Given the description of an element on the screen output the (x, y) to click on. 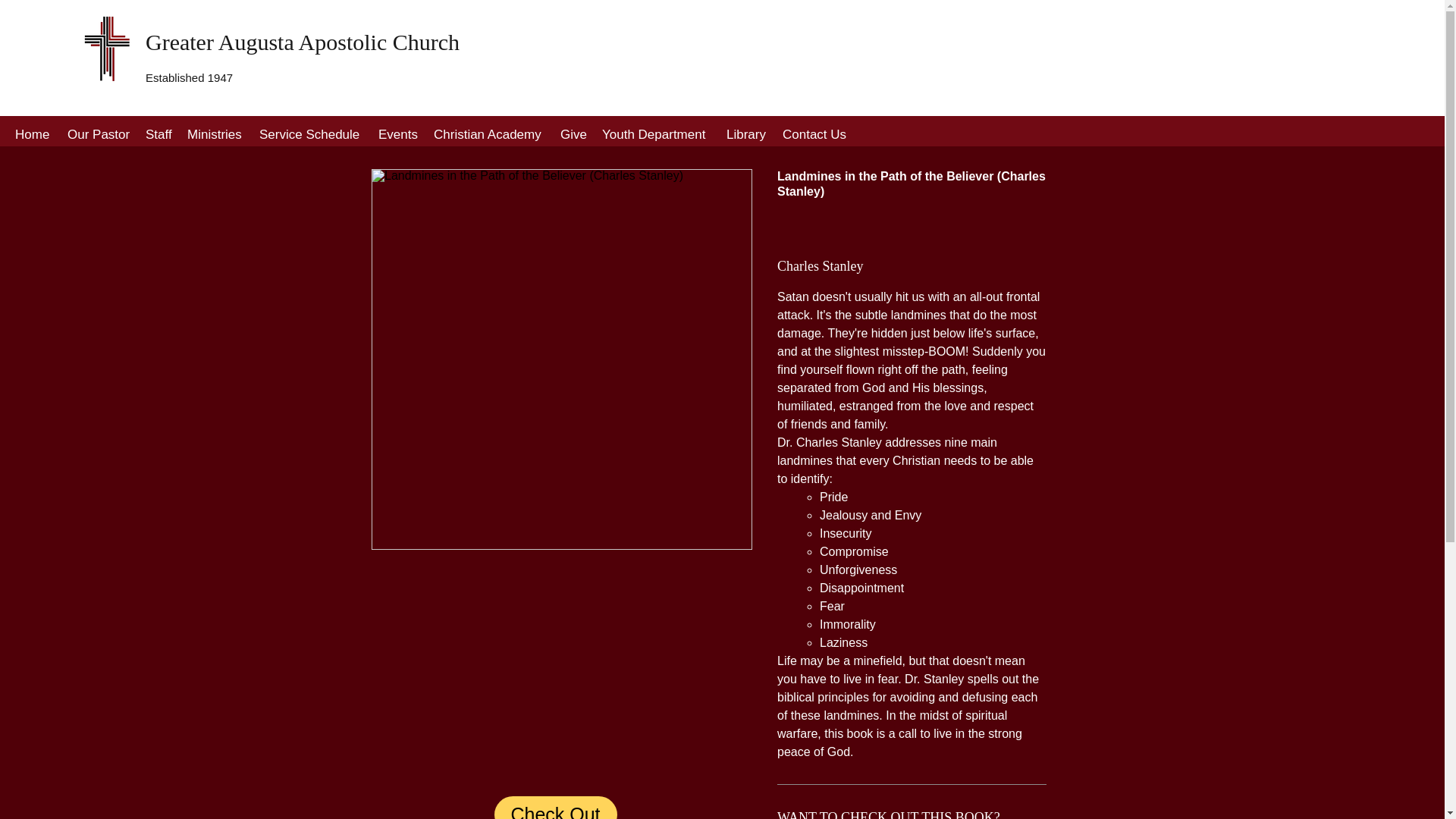
Check Out (556, 807)
Ministries (215, 134)
Events (398, 134)
Youth Department (656, 134)
Our Pastor (98, 134)
Christian Academy (489, 134)
Home (33, 134)
Service Schedule (311, 134)
Give (573, 134)
Library (746, 134)
Contact Us (815, 134)
Staff (158, 134)
